Given the description of an element on the screen output the (x, y) to click on. 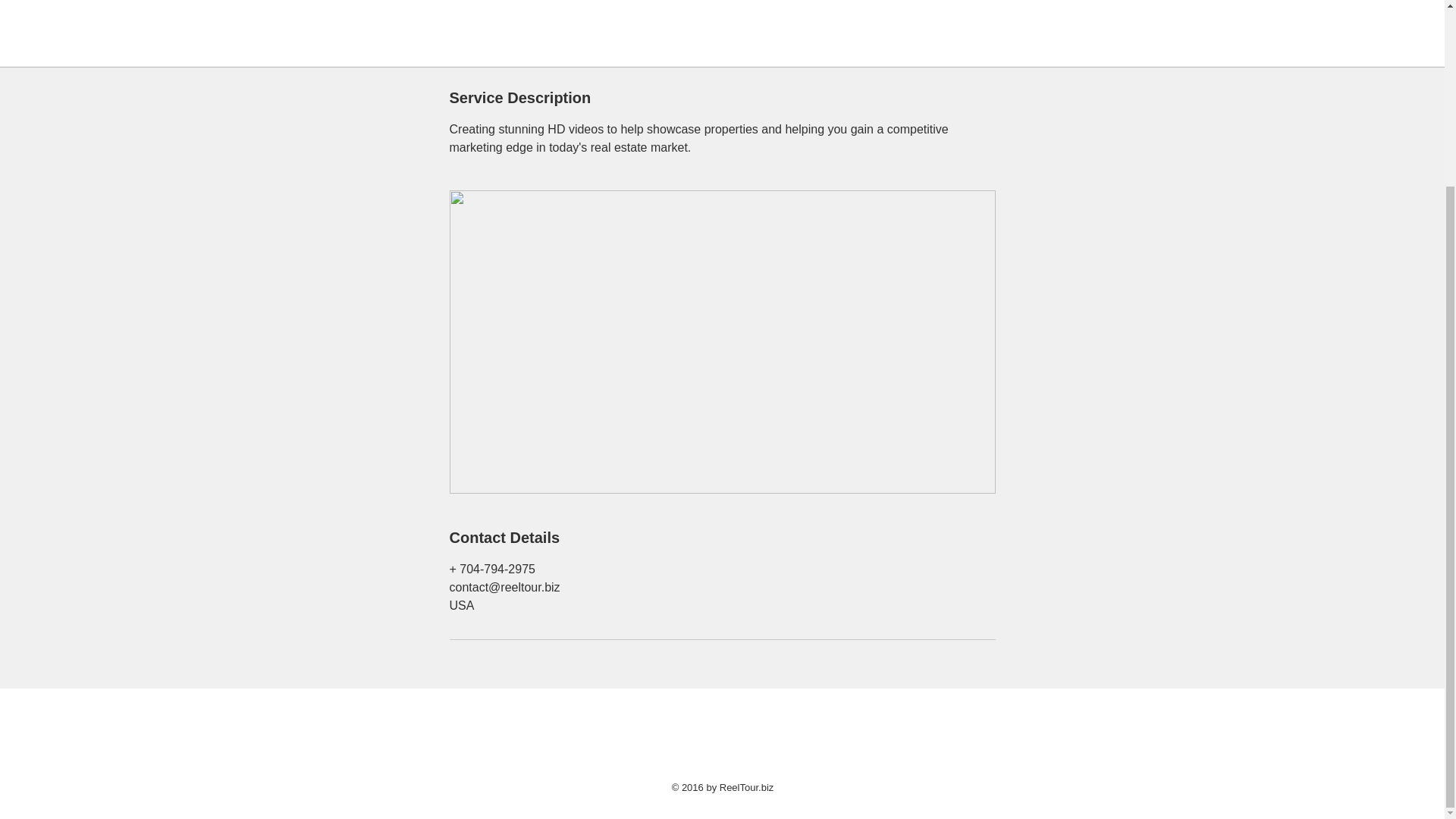
Book Now (498, 22)
